Given the description of an element on the screen output the (x, y) to click on. 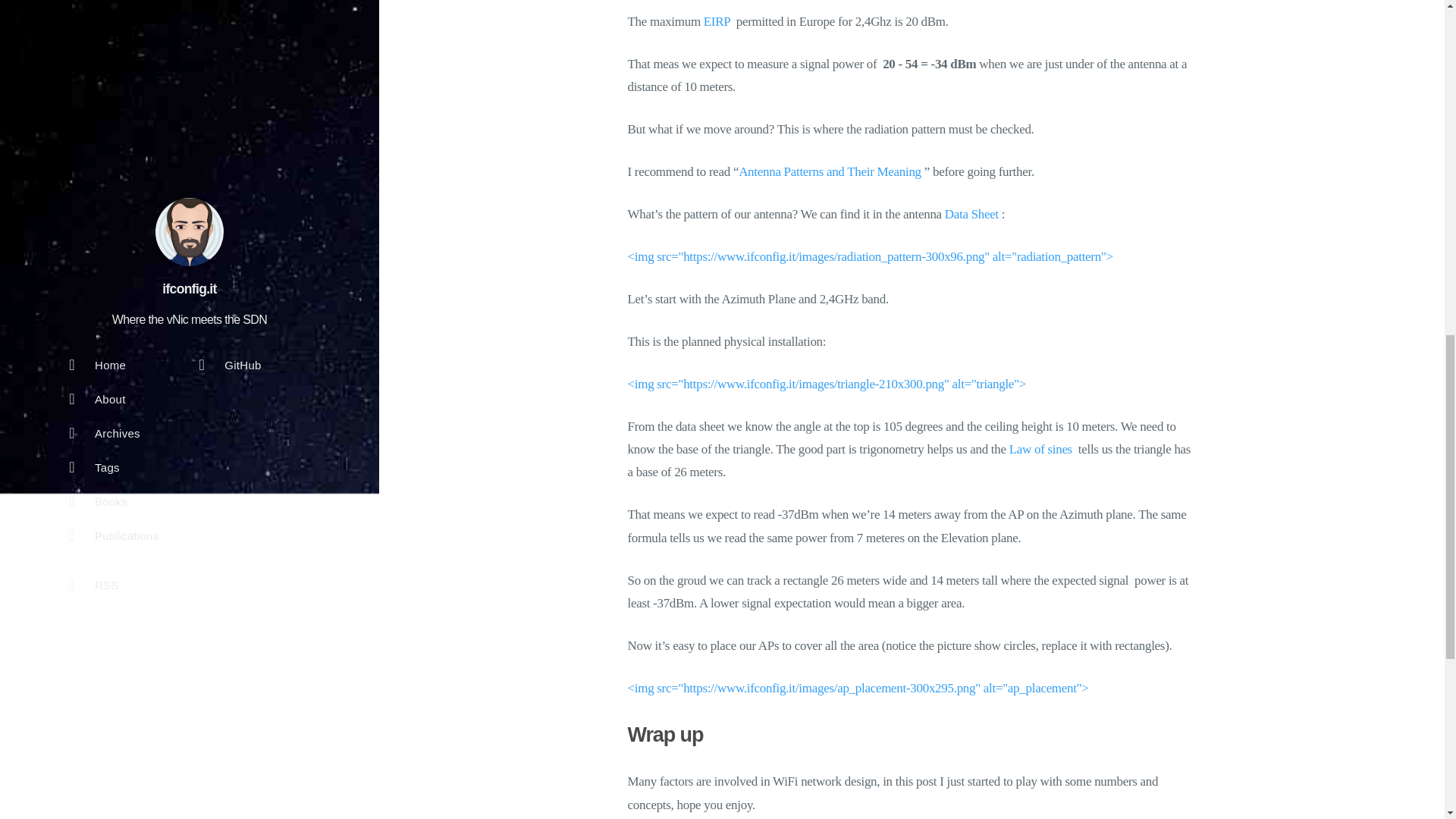
Data Sheet (971, 214)
Antenna Patterns and Their Meaning (829, 171)
EIRP (716, 21)
Law of sines (1040, 449)
Share on Twitter (817, 409)
